Given the description of an element on the screen output the (x, y) to click on. 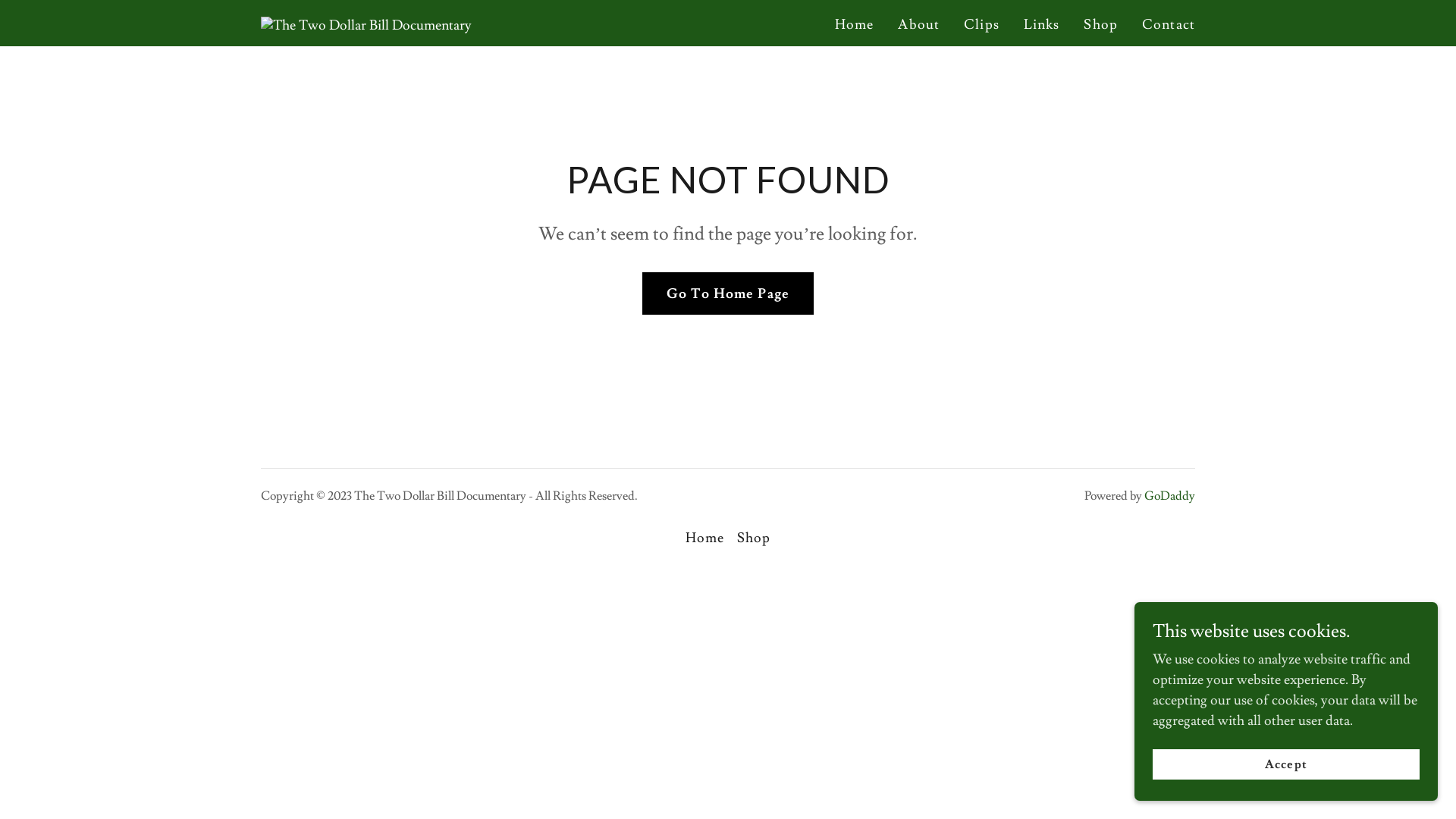
Shop Element type: text (1100, 24)
Shop Element type: text (754, 537)
Contact Element type: text (1168, 24)
About Element type: text (918, 24)
Links Element type: text (1041, 24)
Accept Element type: text (1285, 764)
Clips Element type: text (981, 24)
GoDaddy Element type: text (1169, 495)
Home Element type: text (854, 24)
Home Element type: text (705, 537)
The Two Dollar Bill Documentary Element type: hover (365, 21)
Go To Home Page Element type: text (727, 293)
